Given the description of an element on the screen output the (x, y) to click on. 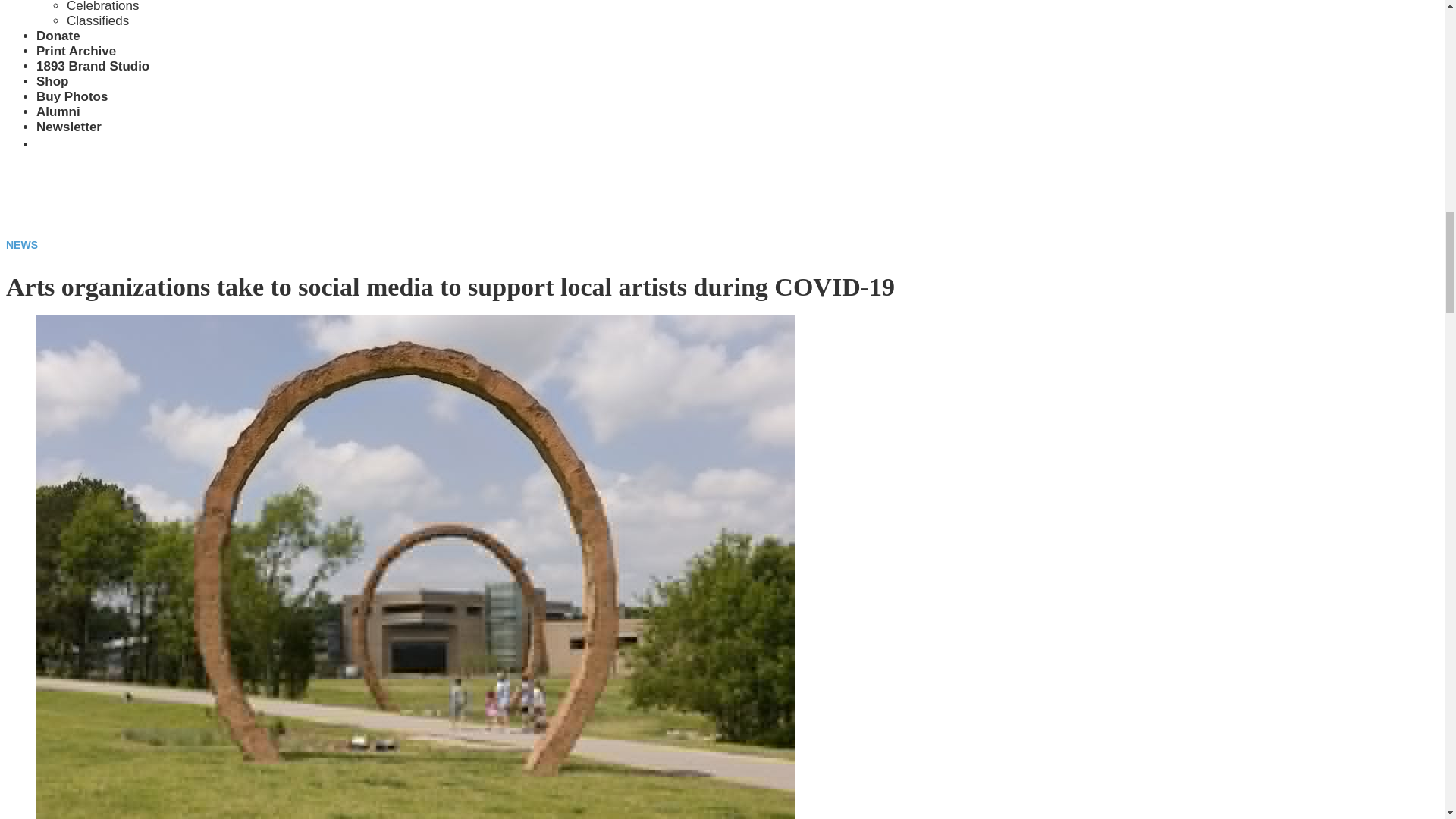
Newsletter (68, 126)
Alumni (58, 111)
Print Archive (76, 51)
1893 Brand Studio (92, 65)
Shop (52, 81)
Donate (58, 35)
Buy Photos (71, 96)
